Given the description of an element on the screen output the (x, y) to click on. 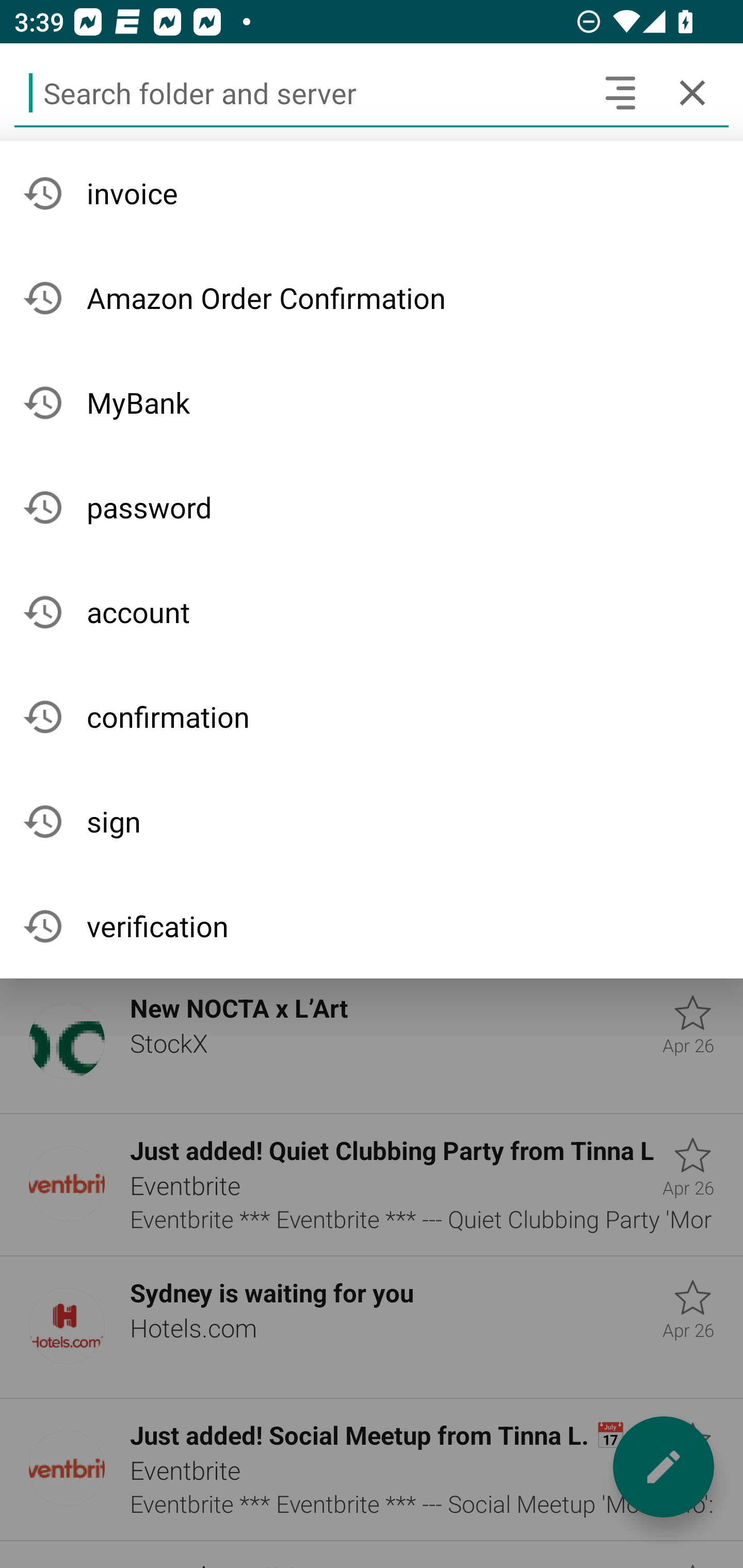
   Search folder and server (298, 92)
Search headers and text (619, 92)
Cancel (692, 92)
